Given the description of an element on the screen output the (x, y) to click on. 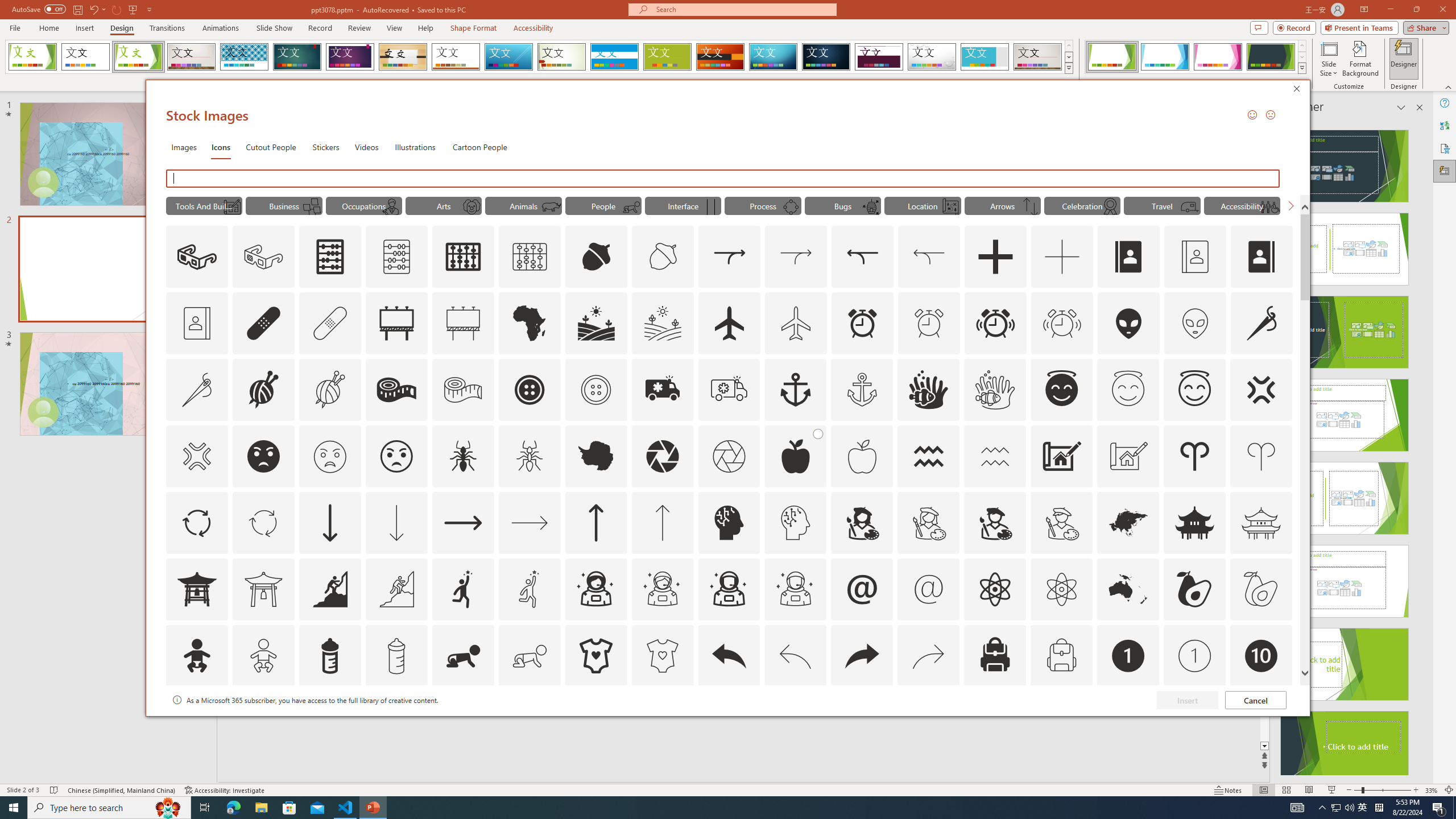
AutomationID: Icons_ArrowDown (329, 522)
AutomationID: Icons_Acquisition_LTR_M (796, 256)
AutomationID: Icons_Avocado (1194, 588)
AutomationID: Icons_Aquarius_M (995, 455)
"Bugs" Icons. (842, 205)
AutomationID: Icons_AstronautMale (729, 588)
